Given the description of an element on the screen output the (x, y) to click on. 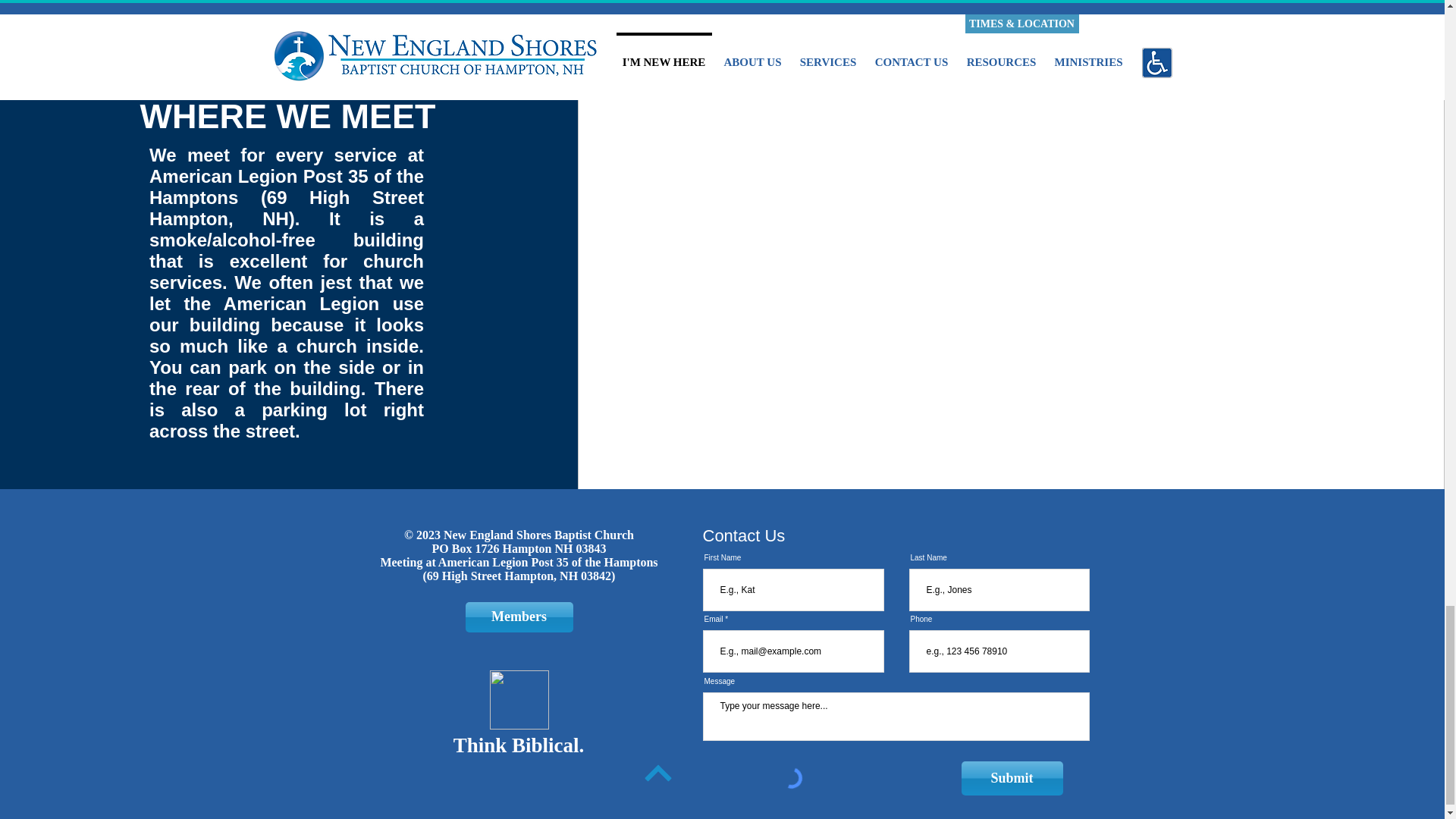
NESBC Logo Button.png (518, 699)
Members (519, 616)
Submit (1011, 778)
